Given the description of an element on the screen output the (x, y) to click on. 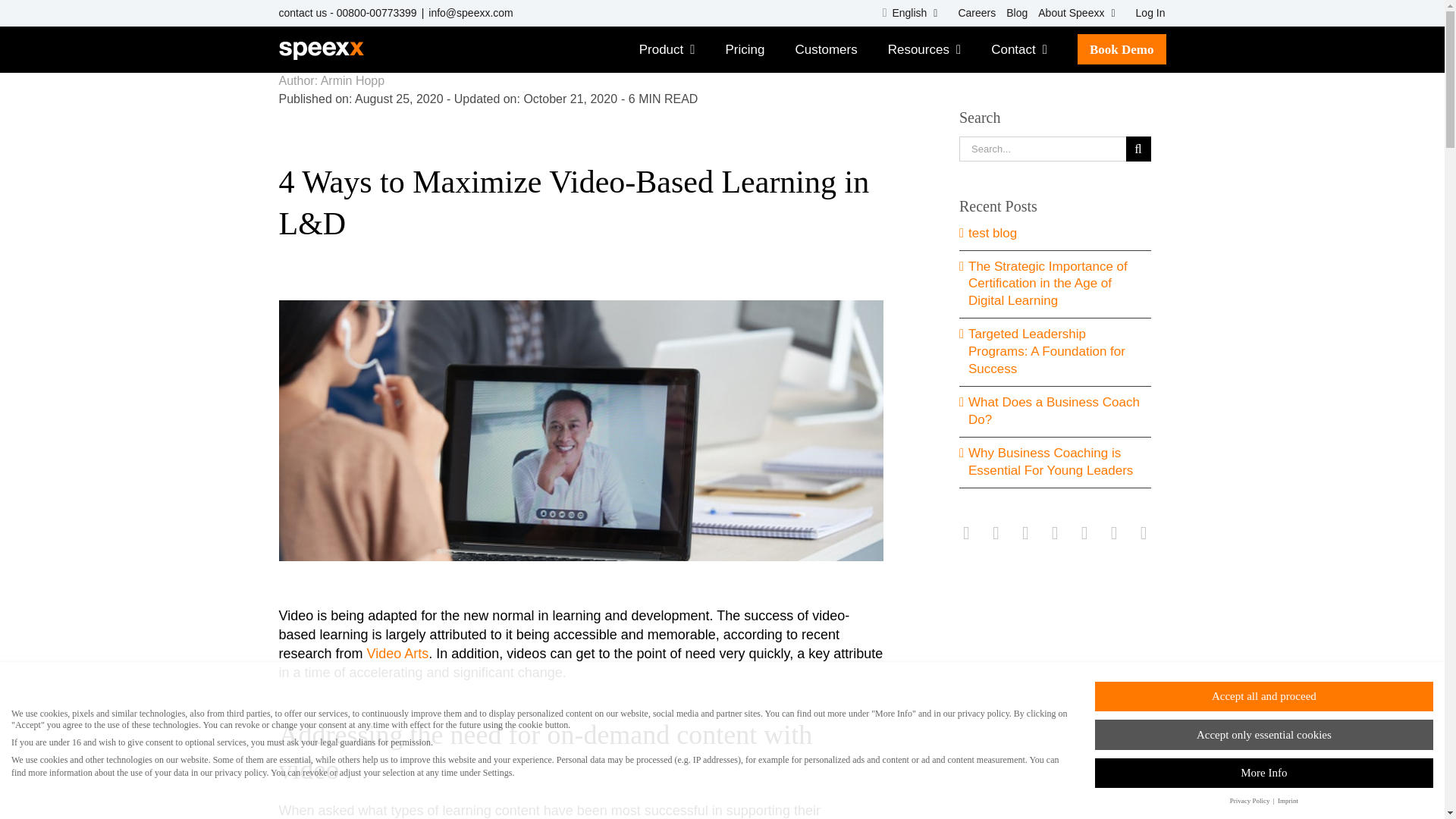
00800-00773399 (376, 12)
Product (667, 49)
second-top-blog (1011, 13)
second-top-login (1145, 13)
second-top-career (971, 13)
English (909, 13)
Blog (1011, 13)
English (909, 13)
Log In (1145, 13)
Careers (971, 13)
About Speexx (1075, 13)
